Given the description of an element on the screen output the (x, y) to click on. 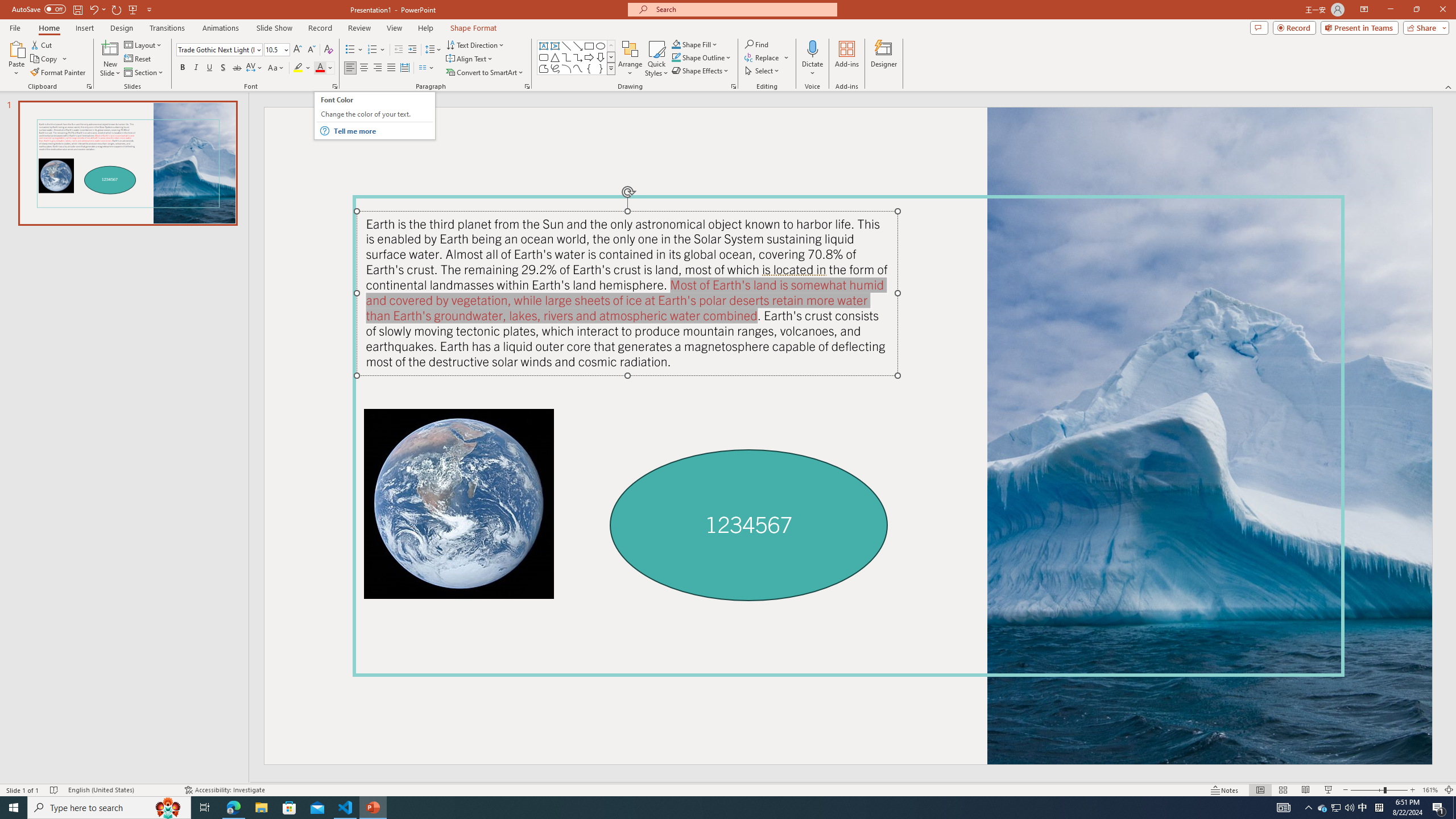
Tell me more (382, 130)
Shape Outline Teal, Accent 1 (675, 56)
